Given the description of an element on the screen output the (x, y) to click on. 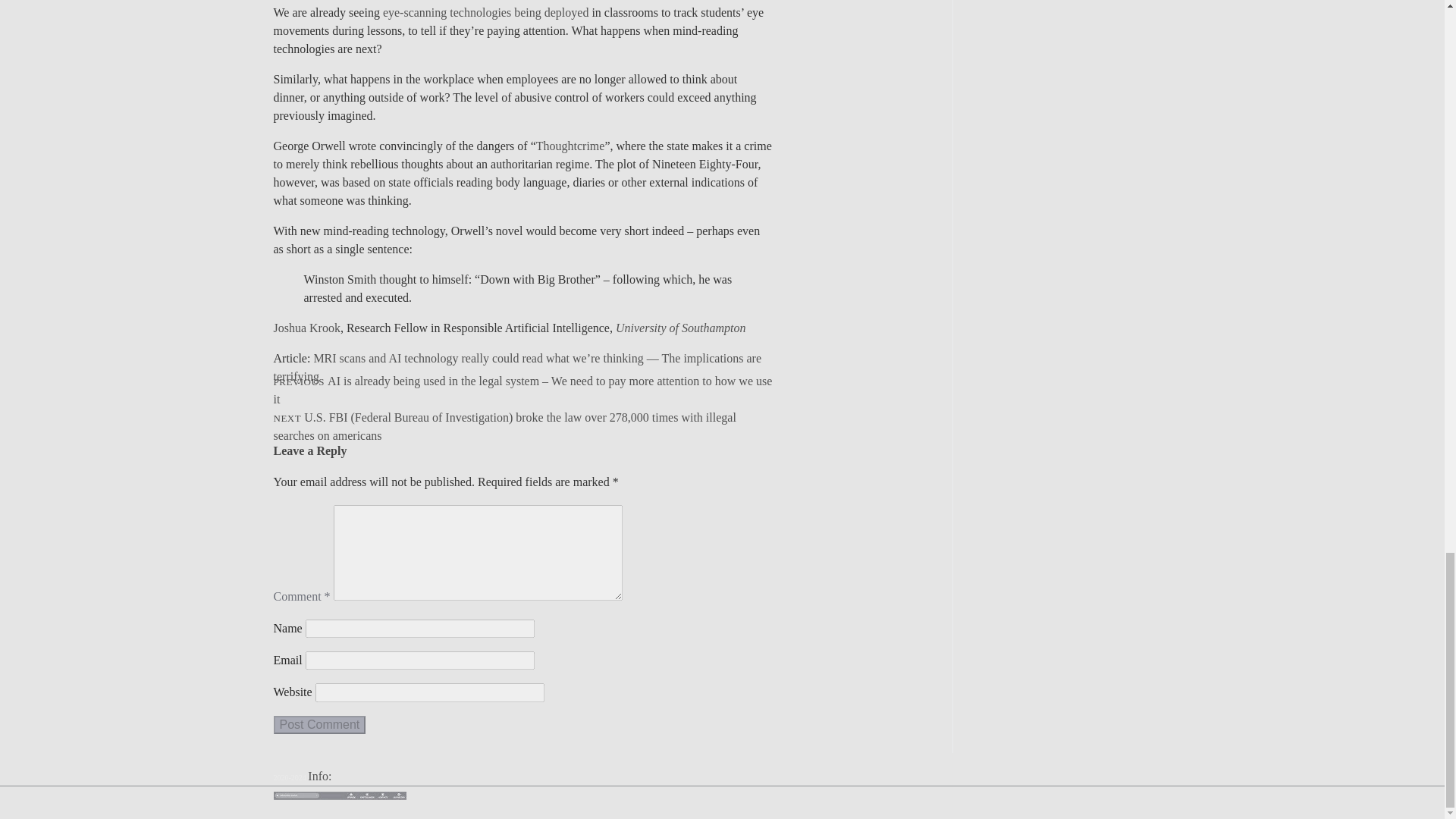
Post Comment (319, 724)
eye-scanning technologies being deployed (485, 11)
University of Southampton (680, 327)
Thoughtcrime (570, 145)
Joshua Krook (306, 327)
